Given the description of an element on the screen output the (x, y) to click on. 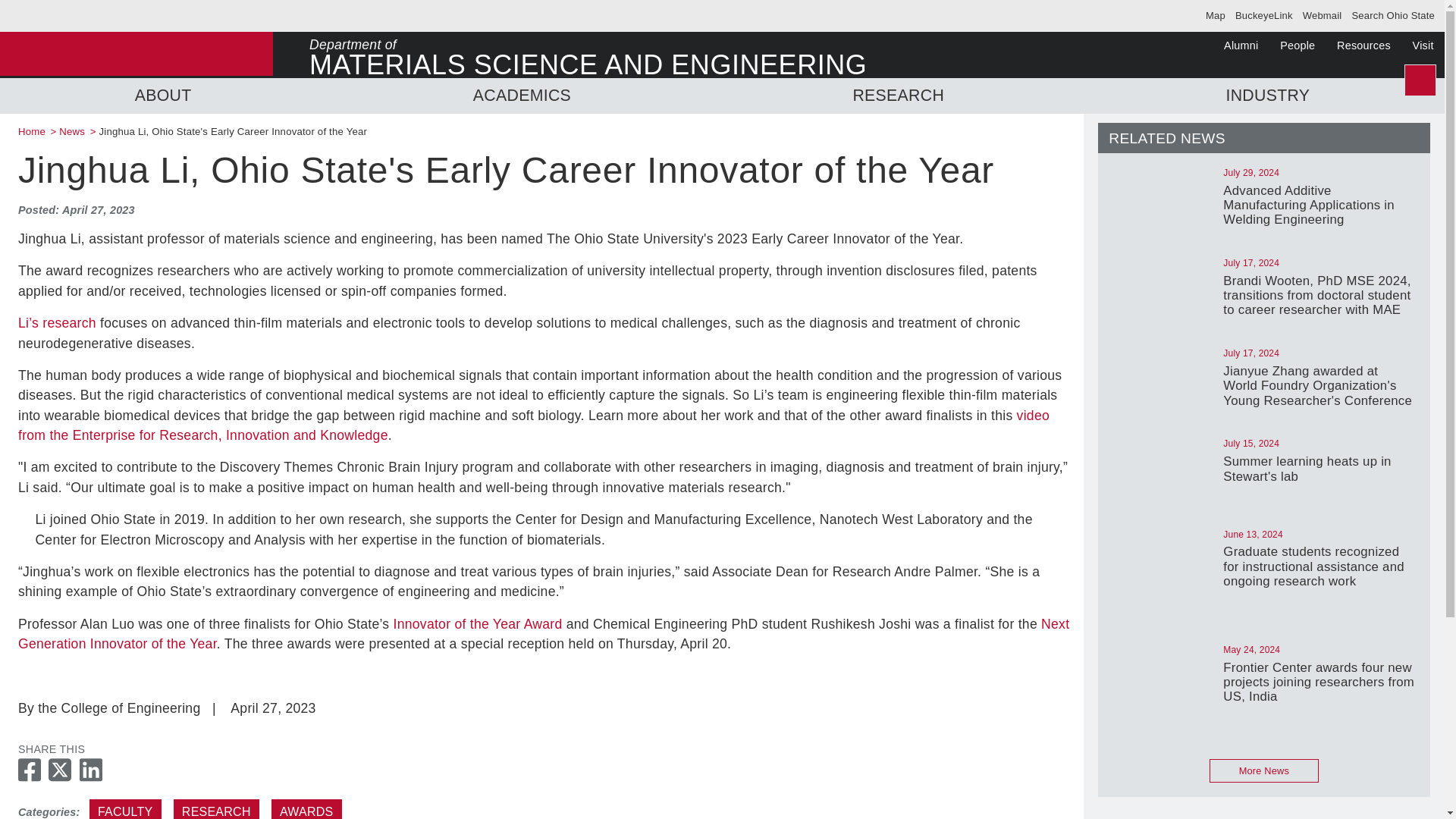
BuckeyeLink (1263, 15)
Alumni (1240, 44)
Undergraduate, Graduate, Online programs (521, 95)
Search Ohio State (1392, 15)
The Ohio State University (51, 15)
Map (1215, 15)
Webmail (1322, 15)
Department faculty, staff, EAC (627, 54)
